Given the description of an element on the screen output the (x, y) to click on. 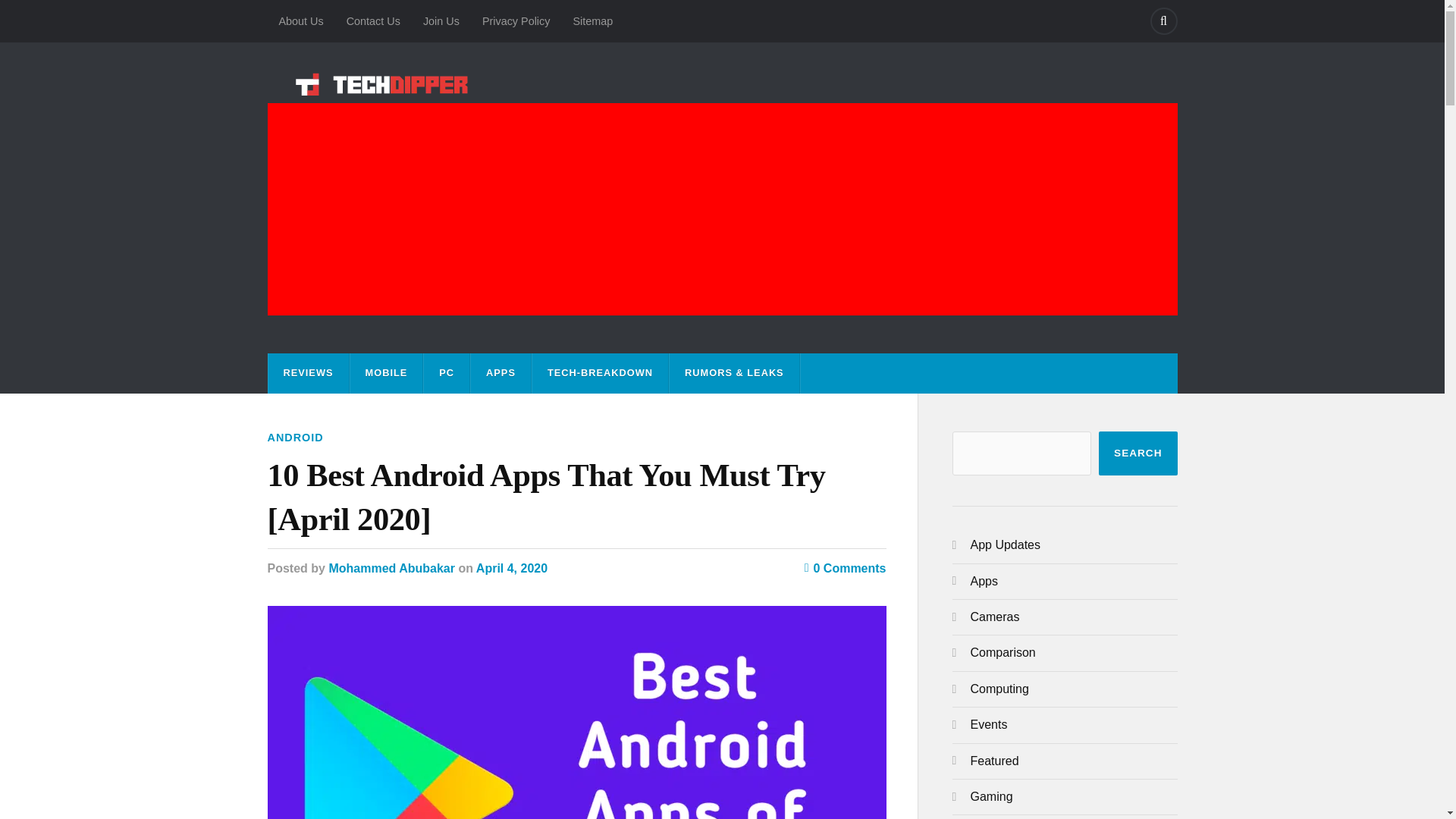
ANDROID (294, 437)
About Us (300, 21)
REVIEWS (308, 372)
PC (445, 372)
April 4, 2020 (511, 567)
APPS (500, 372)
Privacy Policy (516, 21)
0 Comments (845, 567)
Mohammed Abubakar (391, 567)
TECH-BREAKDOWN (600, 372)
Sitemap (592, 21)
Contact Us (373, 21)
Join Us (441, 21)
MOBILE (386, 372)
